Given the description of an element on the screen output the (x, y) to click on. 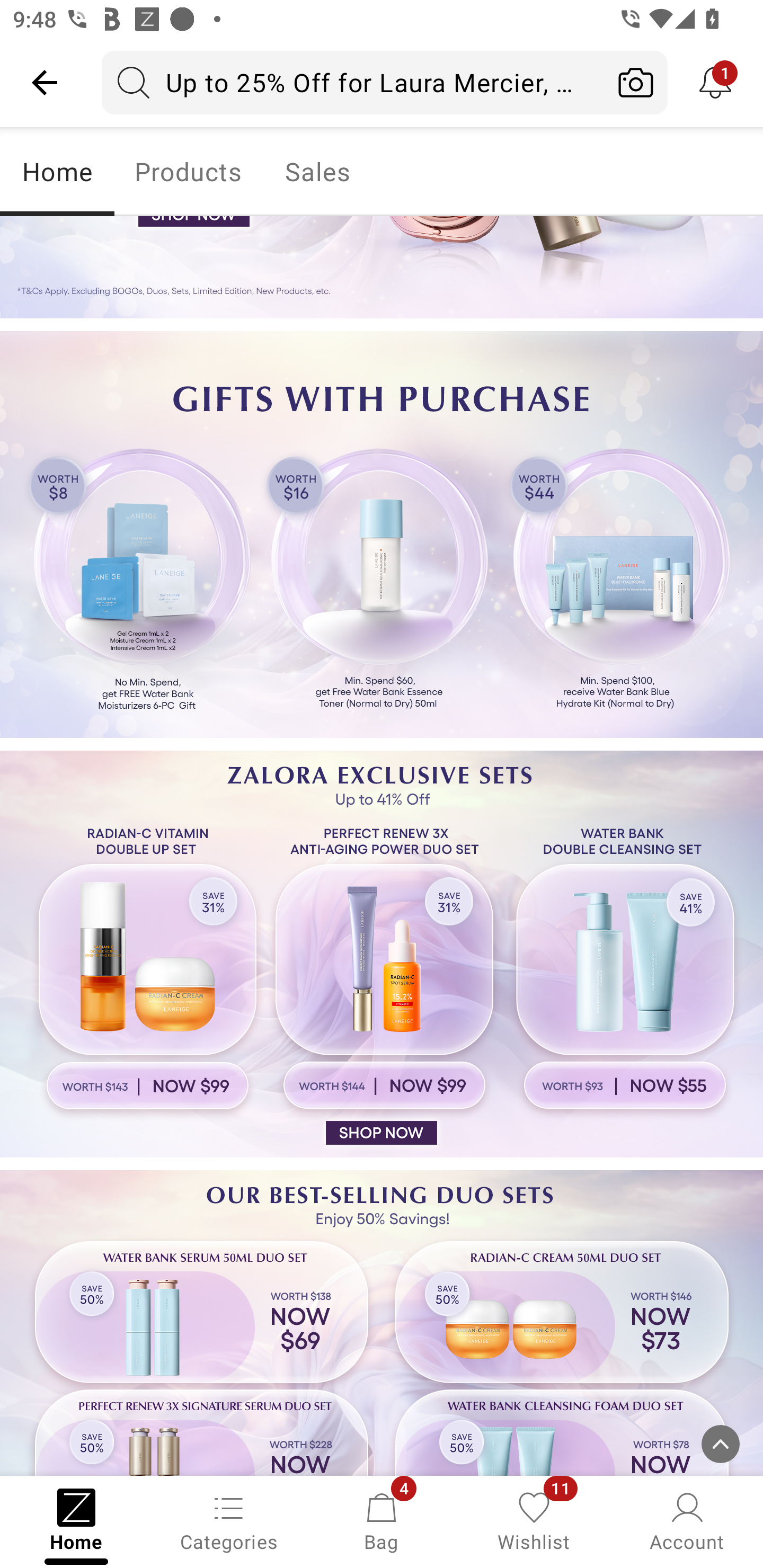
Navigate up (44, 82)
Products (187, 171)
Sales (317, 171)
Categories (228, 1519)
Bag, 4 new notifications Bag (381, 1519)
Wishlist, 11 new notifications Wishlist (533, 1519)
Account (686, 1519)
